Given the description of an element on the screen output the (x, y) to click on. 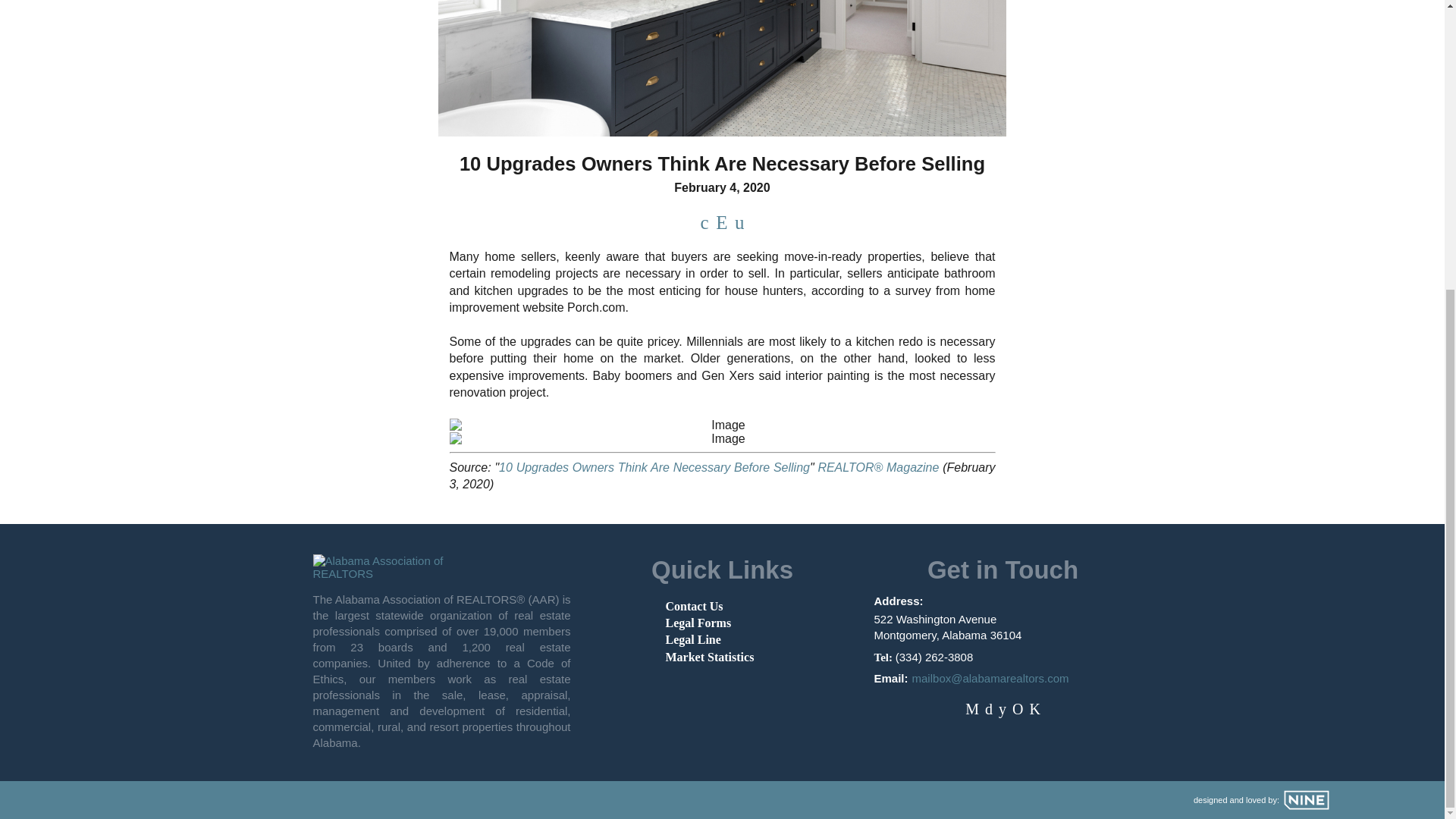
Legal Line (692, 639)
Market Statistics (709, 656)
10 Upgrades Owners Think Are Necessary Before Selling (654, 467)
Contact Us (694, 605)
Legal Forms (698, 622)
